Given the description of an element on the screen output the (x, y) to click on. 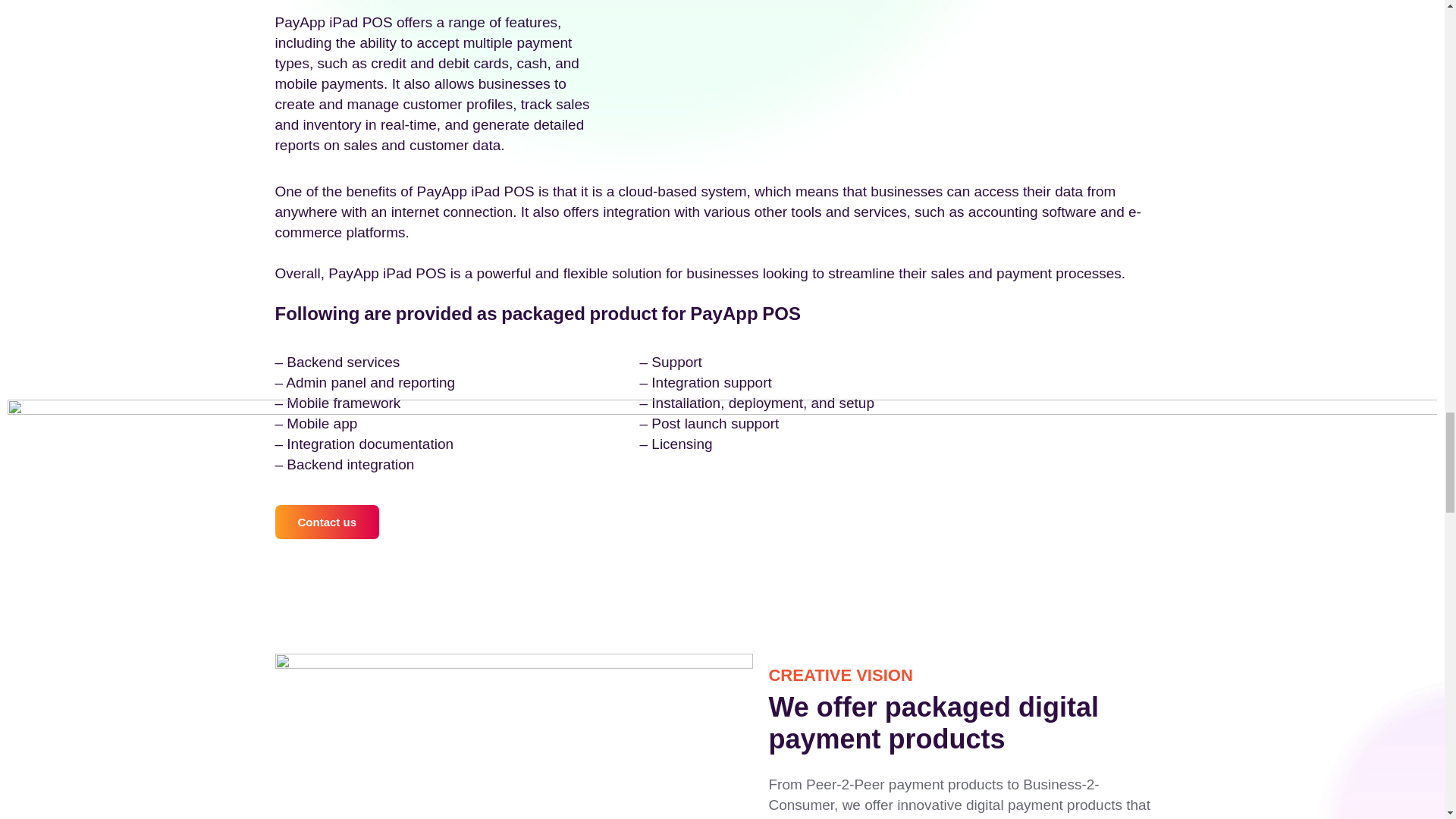
Contact us (326, 521)
